Given the description of an element on the screen output the (x, y) to click on. 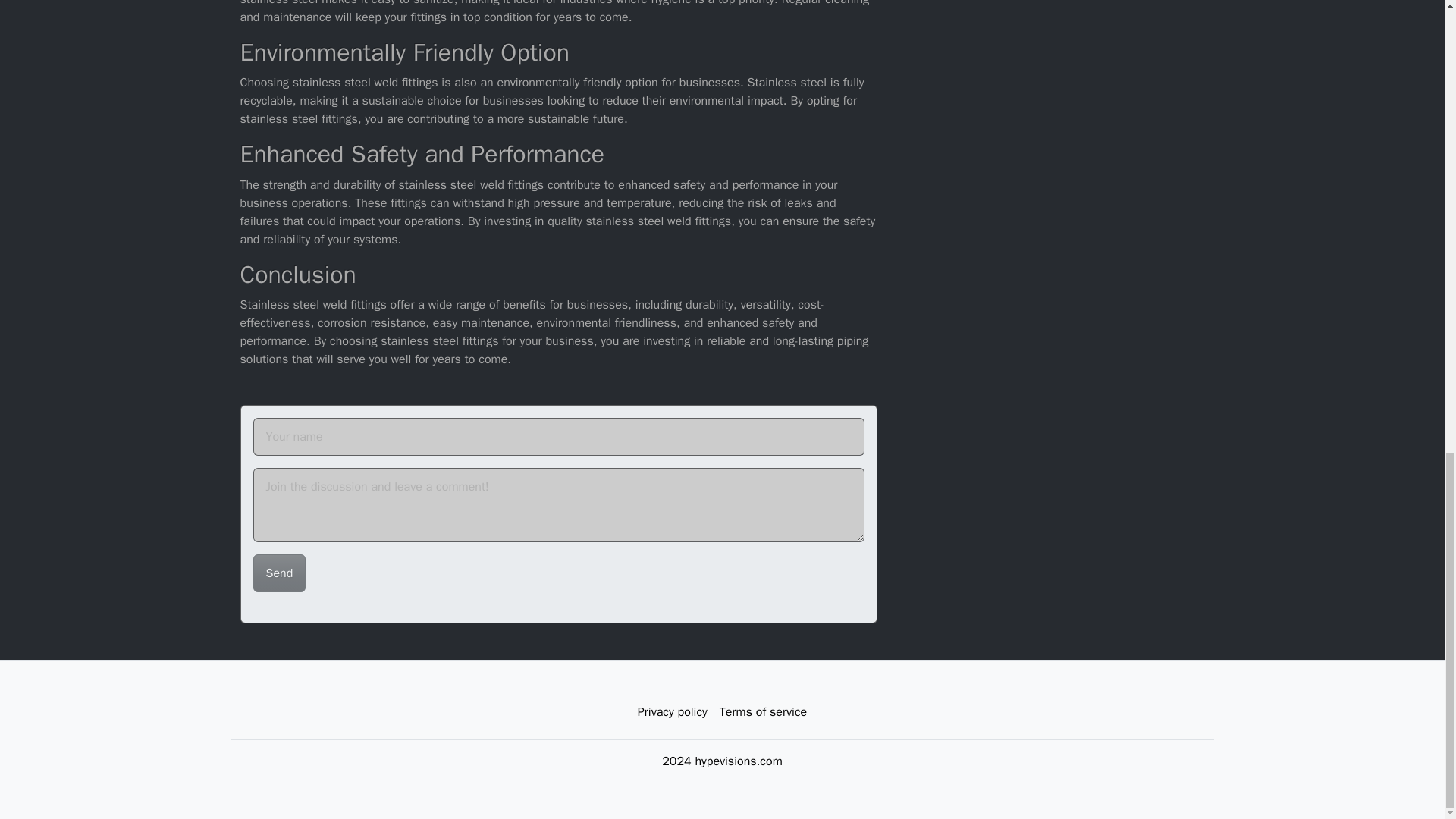
Send (279, 573)
Send (279, 573)
Privacy policy (672, 711)
Terms of service (762, 711)
